Given the description of an element on the screen output the (x, y) to click on. 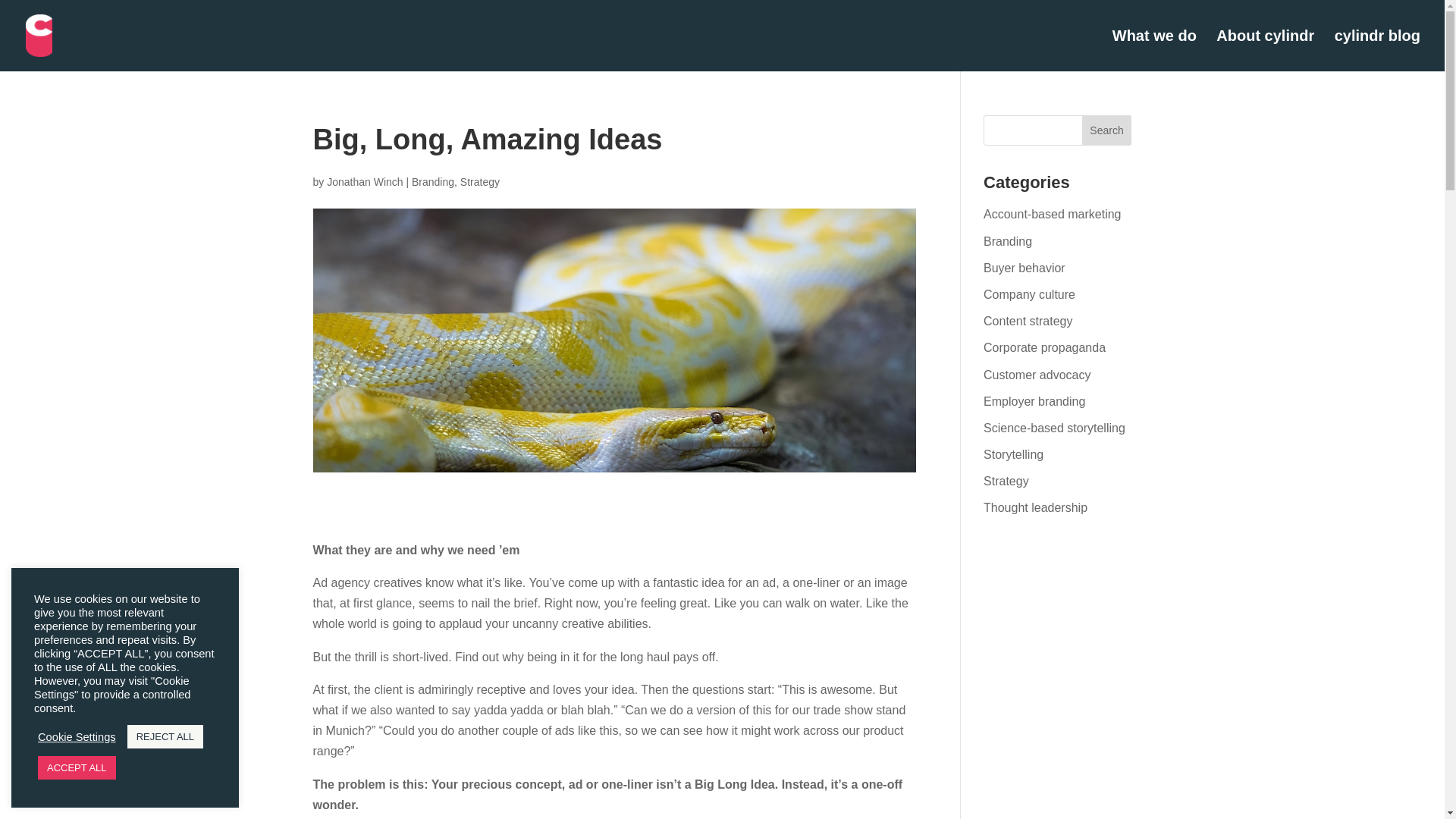
Strategy (479, 182)
Search (1106, 130)
Company culture (1029, 294)
Cookie Settings (76, 735)
Customer advocacy (1037, 374)
Account-based marketing (1052, 214)
Employer branding (1034, 400)
Corporate propaganda (1044, 347)
Content strategy (1027, 320)
What we do (1154, 50)
Strategy (1006, 481)
Search (1106, 130)
Posts by Jonathan Winch (364, 182)
Jonathan Winch (364, 182)
Buyer behavior (1024, 267)
